Given the description of an element on the screen output the (x, y) to click on. 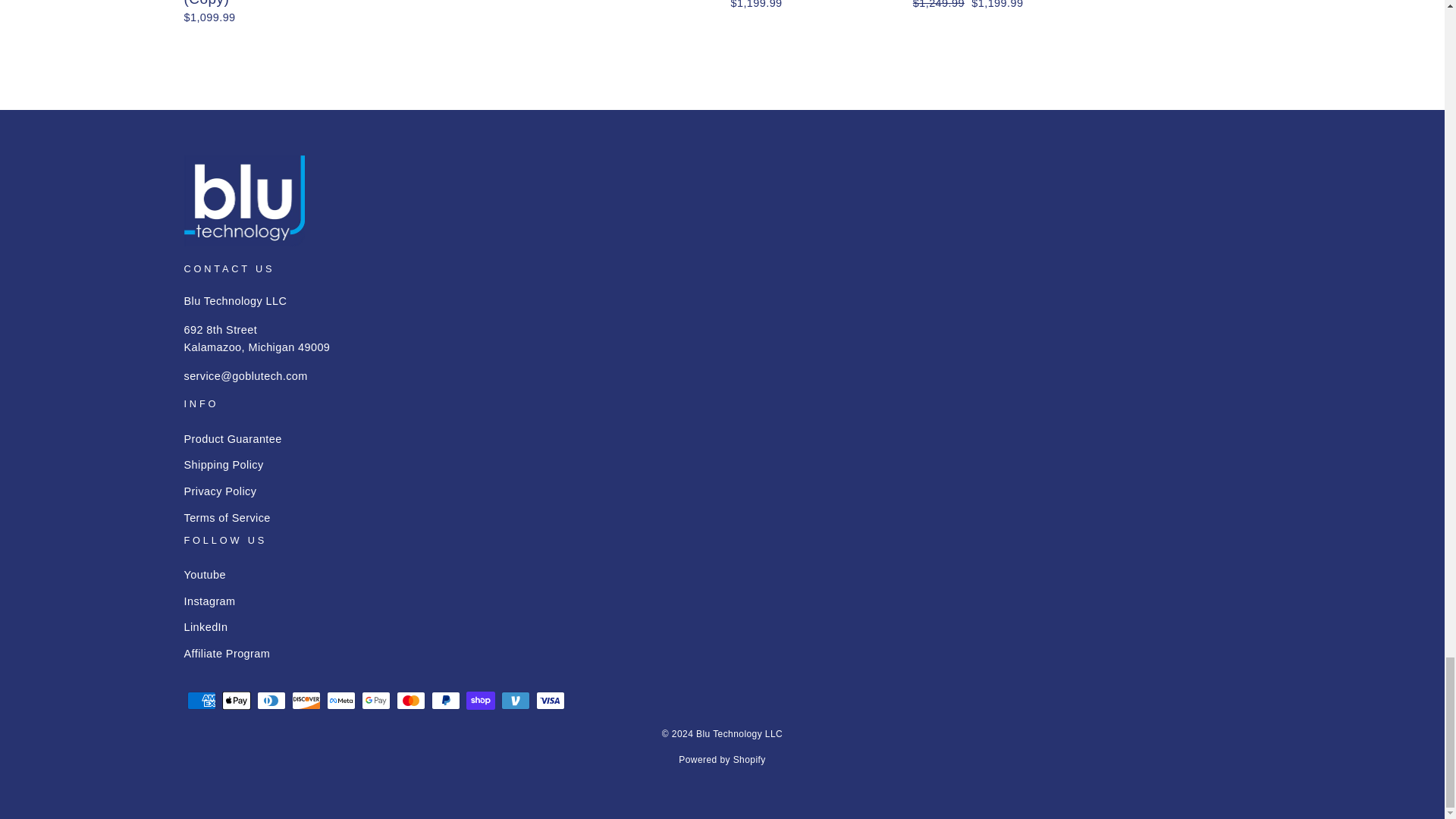
Discover (305, 700)
Google Pay (375, 700)
Meta Pay (340, 700)
Mastercard (410, 700)
Diners Club (270, 700)
American Express (200, 700)
PayPal (445, 700)
Apple Pay (235, 700)
